Given the description of an element on the screen output the (x, y) to click on. 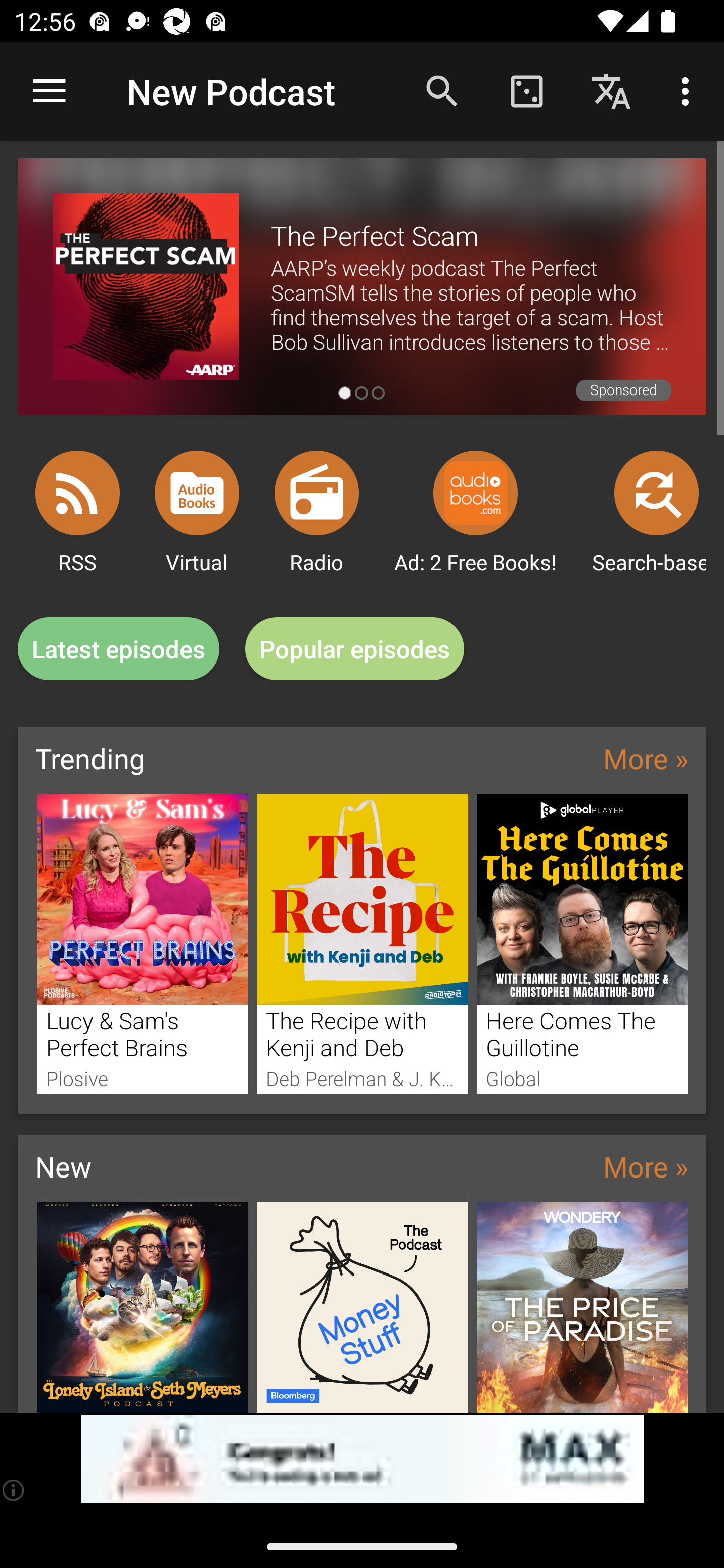
Open navigation sidebar (49, 91)
Search (442, 90)
Random pick (526, 90)
Podcast languages (611, 90)
More options (688, 90)
RSS (77, 492)
Virtual (196, 492)
Radio (316, 492)
Search-based (656, 492)
Latest episodes (118, 648)
Popular episodes (354, 648)
More » (645, 757)
Lucy & Sam's Perfect Brains Plosive (142, 942)
Here Comes The Guillotine Global (581, 942)
More » (645, 1166)
The Lonely Island and Seth Meyers Podcast (142, 1306)
Money Stuff: The Podcast (362, 1306)
The Price of Paradise (581, 1306)
app-monetization (362, 1459)
(i) (14, 1489)
